Given the description of an element on the screen output the (x, y) to click on. 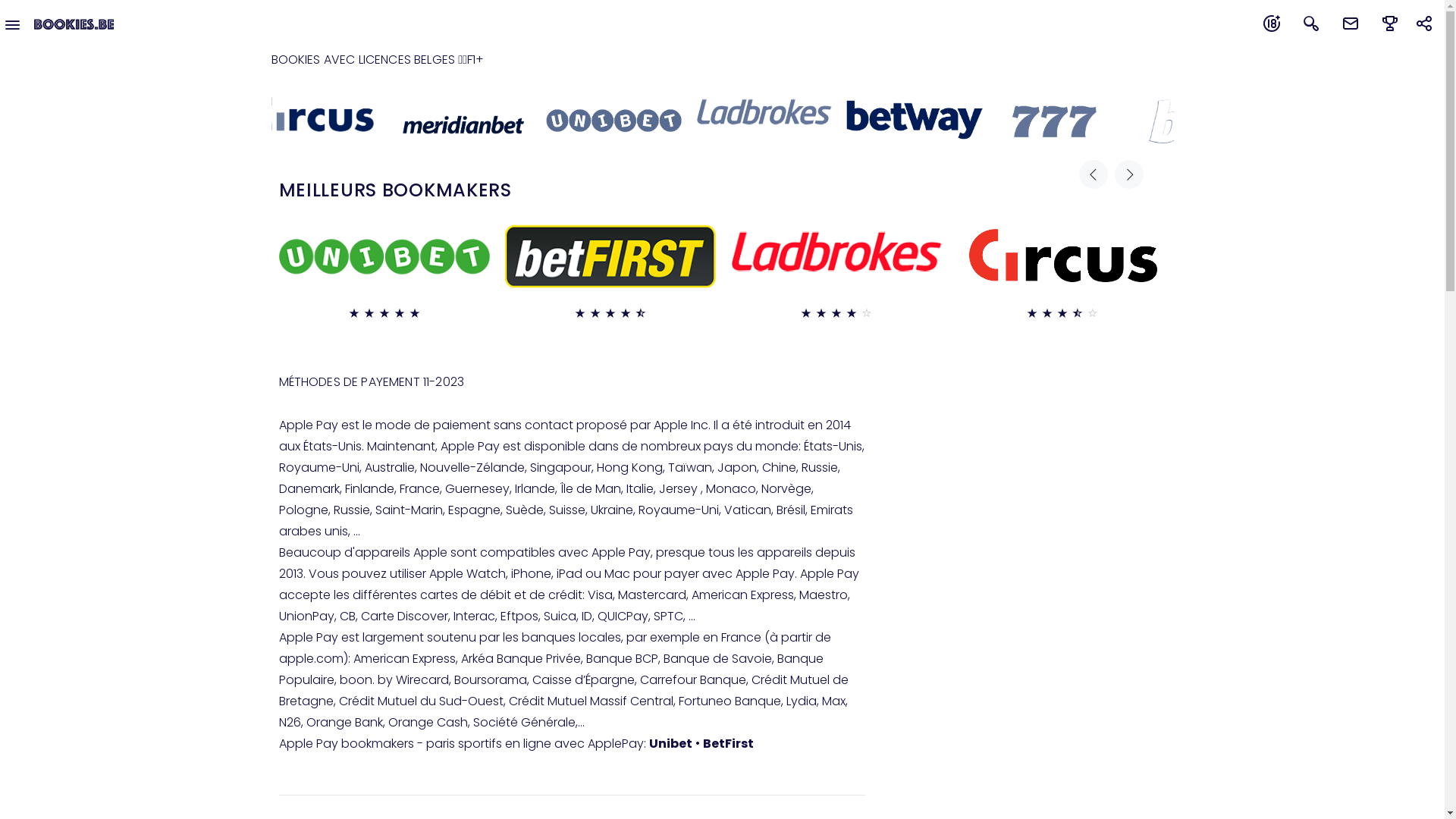
Previous Element type: text (1092, 174)
Next Element type: text (1128, 174)
BetFirst Element type: text (727, 743)
Unibet Element type: text (670, 743)
